Given the description of an element on the screen output the (x, y) to click on. 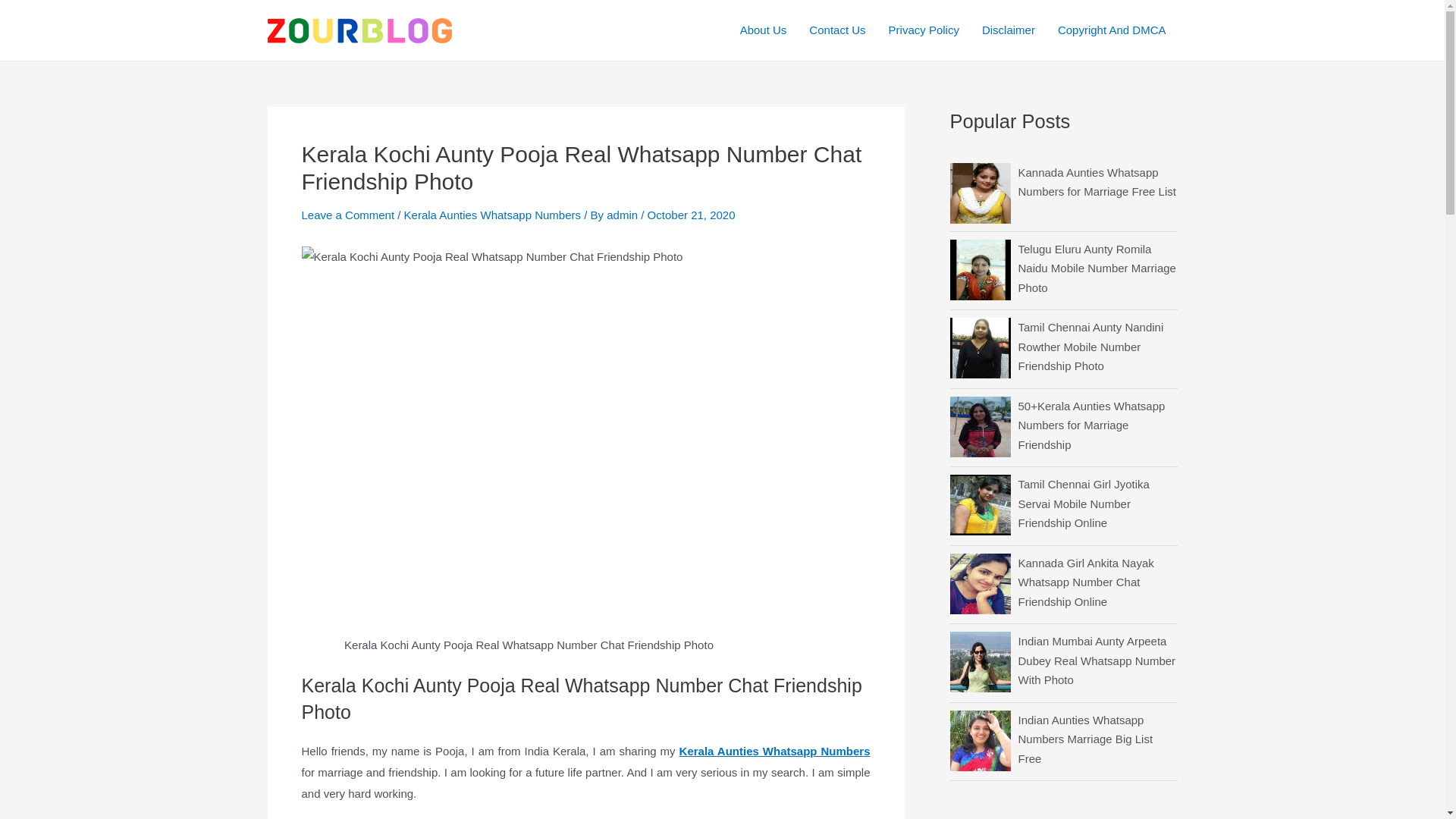
Leave a Comment Element type: text (348, 214)
Privacy Policy Element type: text (923, 30)
About Us Element type: text (763, 30)
Kerala Aunties Whatsapp Numbers Element type: text (774, 750)
Kerala Aunties Whatsapp Numbers Element type: text (492, 214)
Telugu Eluru Aunty Romila Naidu Mobile Number Marriage Photo Element type: text (1096, 268)
Disclaimer Element type: text (1008, 30)
admin Element type: text (623, 214)
Contact Us Element type: text (836, 30)
50+Kerala Aunties Whatsapp Numbers for Marriage Friendship Element type: text (1090, 425)
Copyright And DMCA Element type: text (1111, 30)
Kannada Aunties Whatsapp Numbers for Marriage Free List Element type: text (1096, 182)
Indian Aunties Whatsapp Numbers Marriage Big List Free Element type: text (1084, 739)
